Given the description of an element on the screen output the (x, y) to click on. 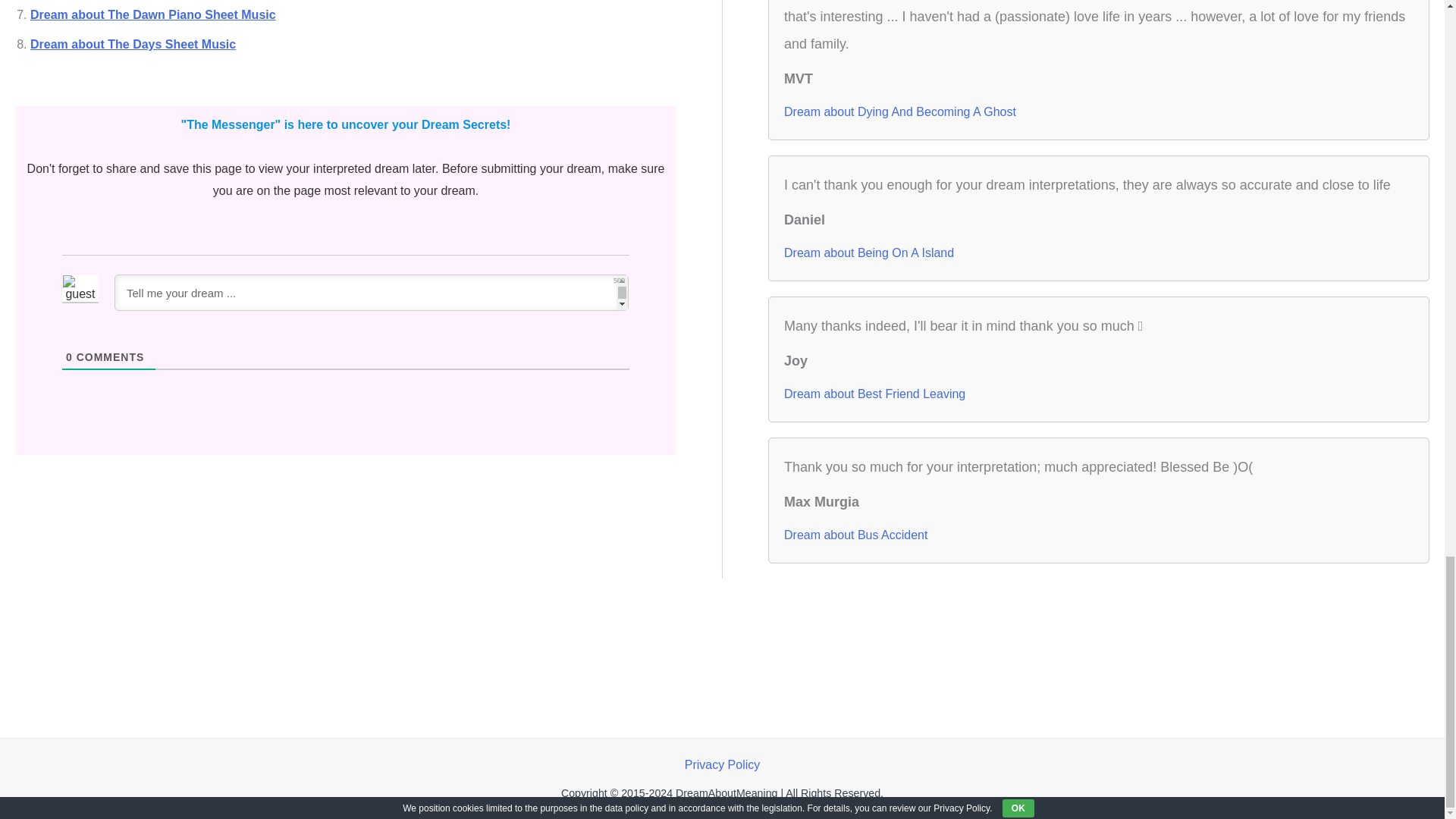
Dream about The Days Sheet Music (132, 43)
Dream about Best Friend Leaving (874, 394)
Dream about The Days Sheet Music (132, 43)
Dream about The Dawn Piano Sheet Music (153, 14)
Dream about The Dawn Piano Sheet Music (153, 14)
Privacy Policy (722, 764)
Dream about Bus Accident (855, 535)
Dream about Being On A Island (868, 252)
Dream about Dying And Becoming A Ghost (900, 111)
